Given the description of an element on the screen output the (x, y) to click on. 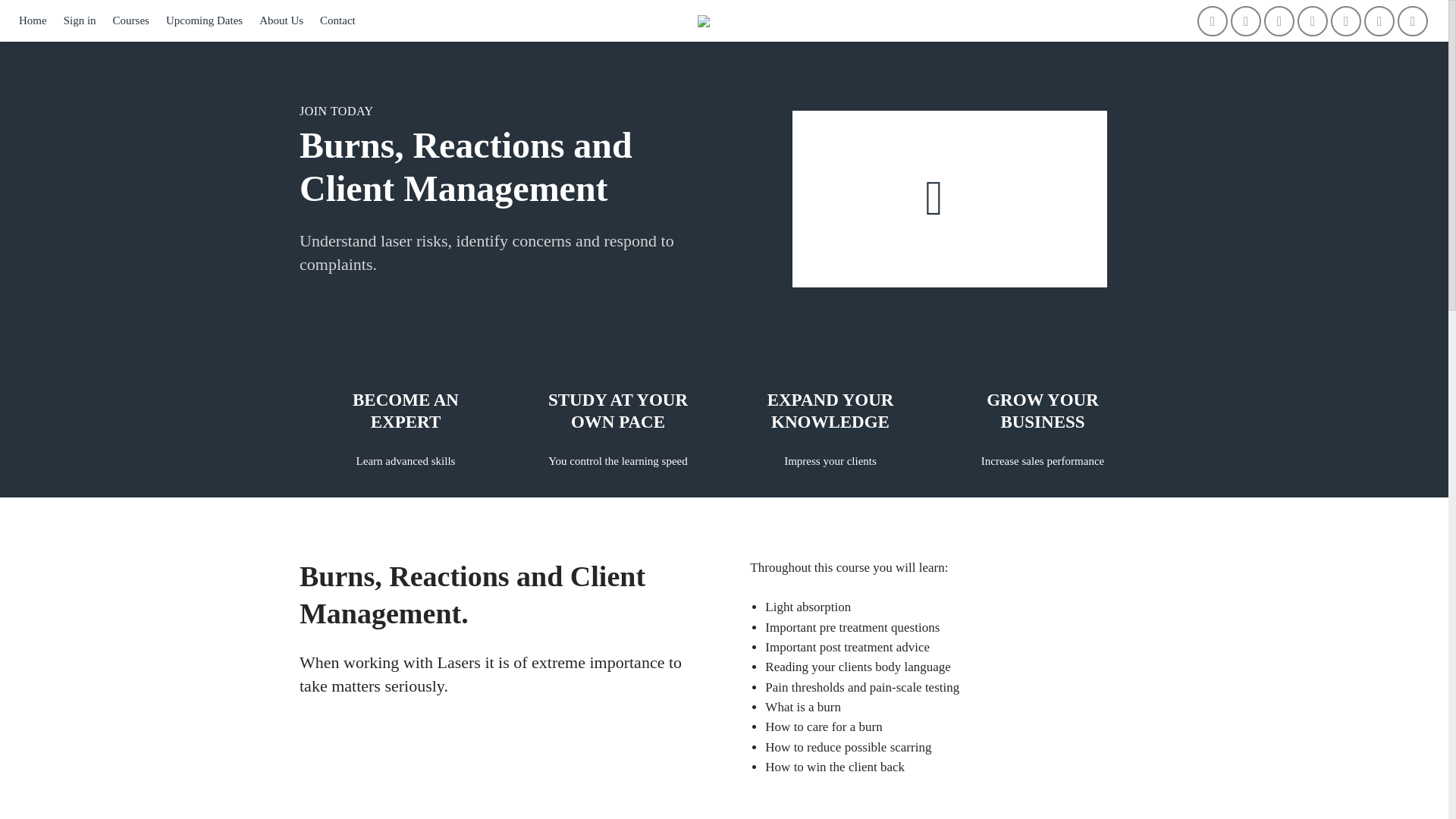
Upcoming Dates (204, 20)
Courses (131, 20)
Contact (337, 20)
Sign in (80, 20)
Home (32, 20)
About Us (280, 20)
